Given the description of an element on the screen output the (x, y) to click on. 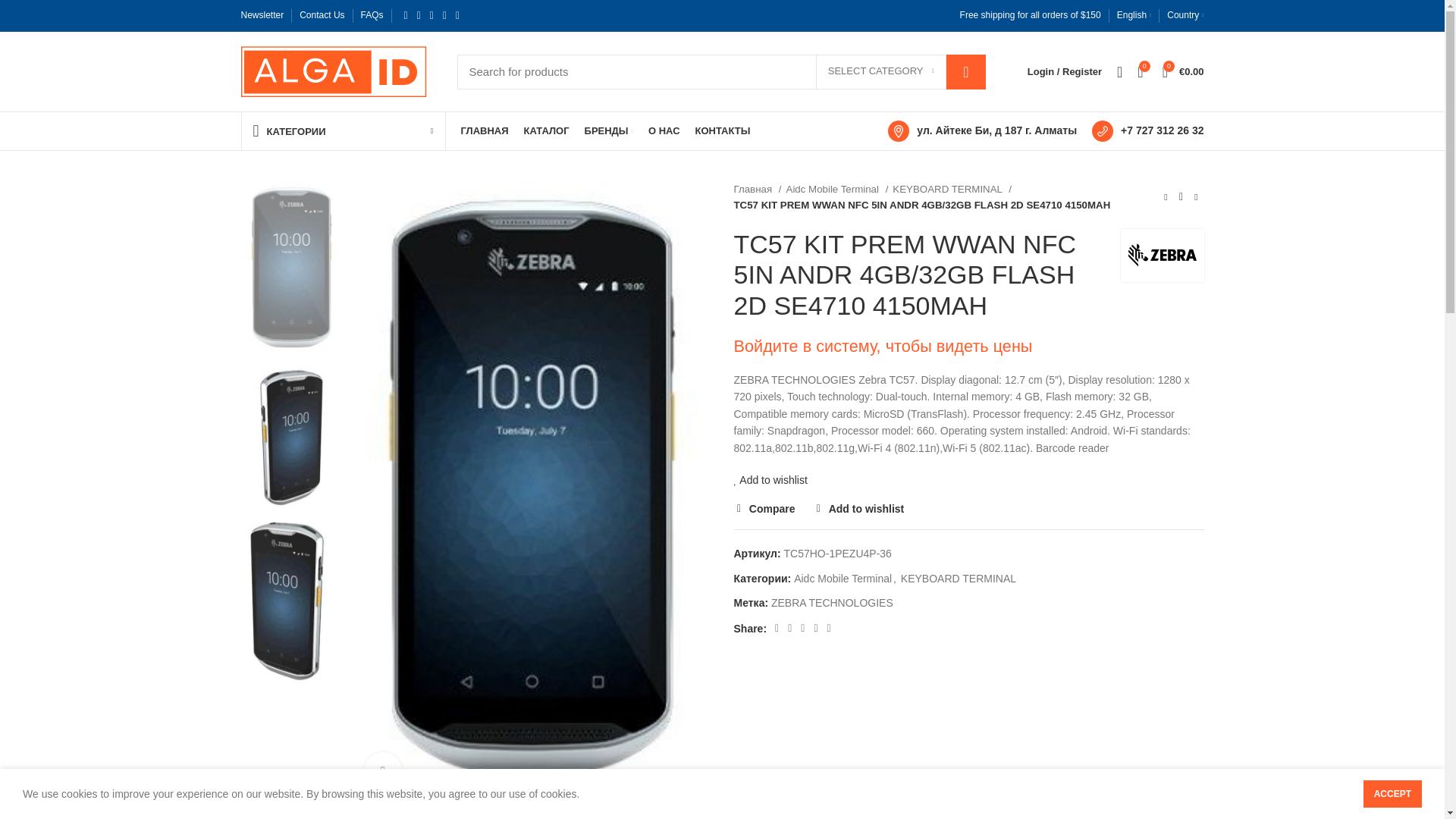
Shopping cart (1182, 71)
SELECT CATEGORY (880, 70)
FAQs (372, 15)
Search for products (721, 71)
Contact Us (322, 15)
Newsletter (262, 15)
Country (1184, 15)
English (1133, 15)
Zebra (1162, 254)
My account (1064, 71)
SELECT CATEGORY (880, 70)
